Given the description of an element on the screen output the (x, y) to click on. 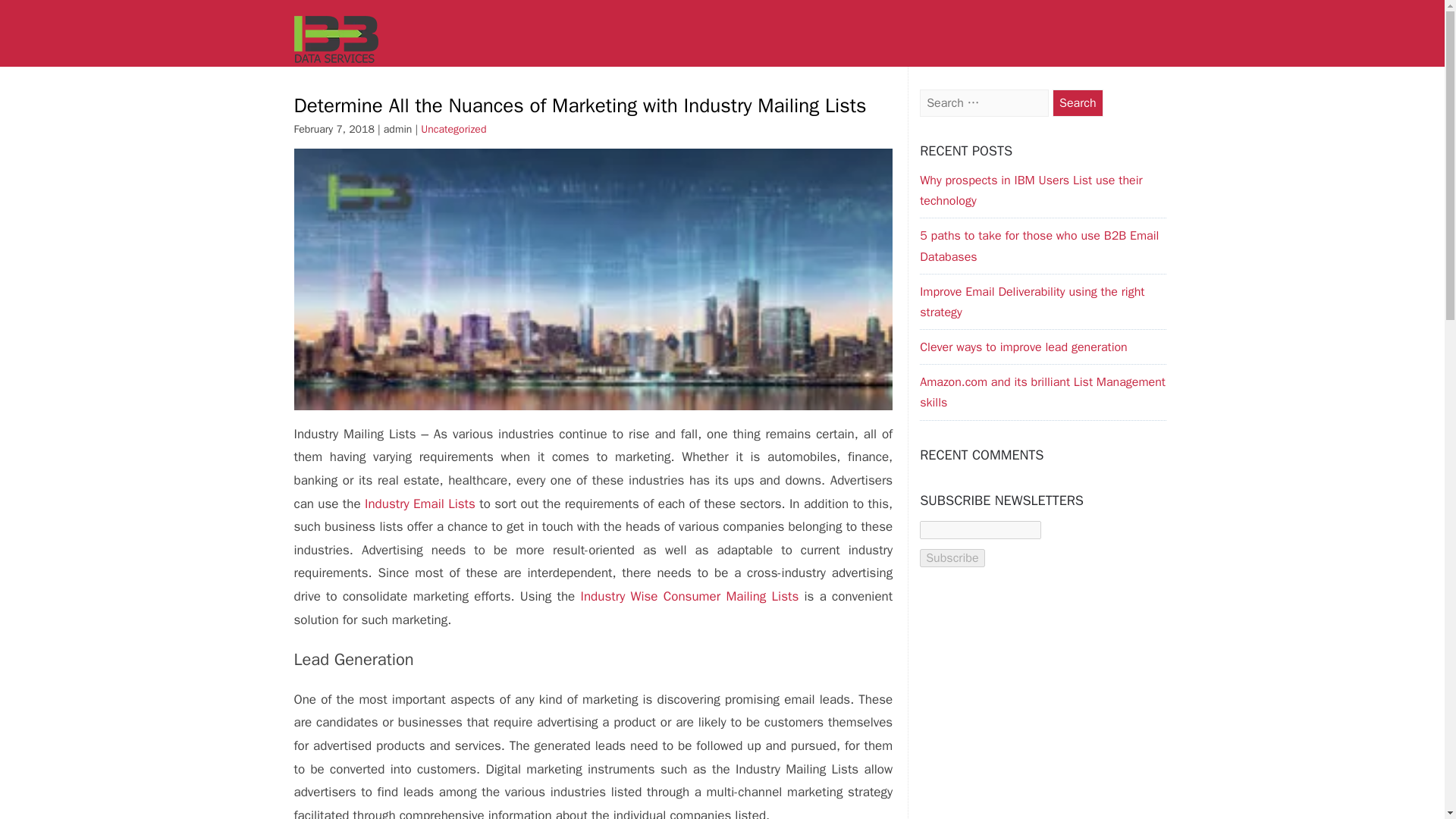
Why prospects in IBM Users List use their technology (1030, 190)
Industry Wise Consumer Mailing Lists (689, 596)
5 paths to take for those who use B2B Email Databases (1039, 245)
Search (1077, 103)
Industry Email Lists (422, 503)
Clever ways to improve lead generation (1023, 346)
Subscribe (952, 557)
Search (1077, 103)
Improve Email Deliverability using the right strategy (1032, 302)
Amazon.com and its brilliant List Management skills (1043, 392)
